Given the description of an element on the screen output the (x, y) to click on. 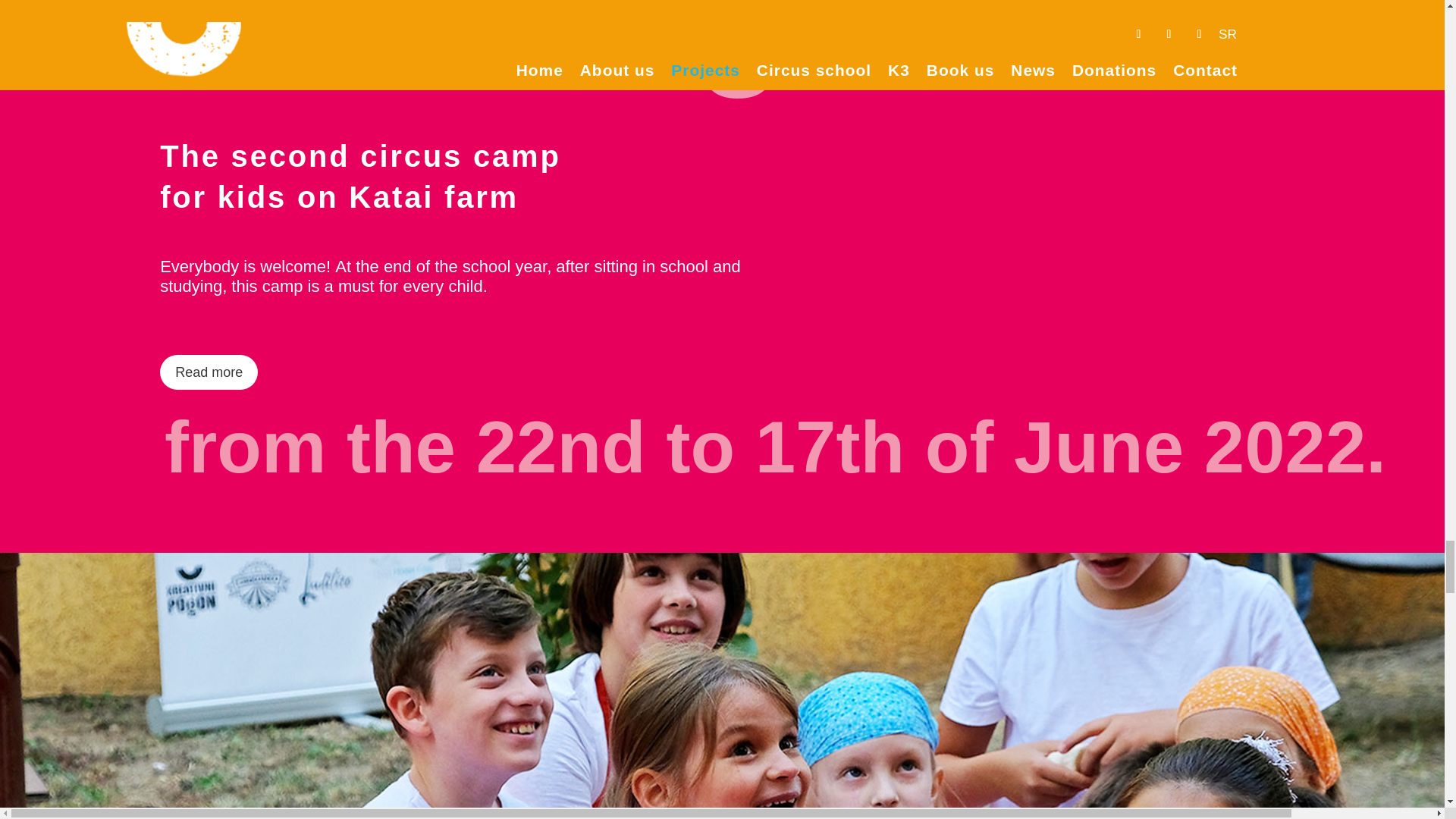
Read more (208, 371)
